Given the description of an element on the screen output the (x, y) to click on. 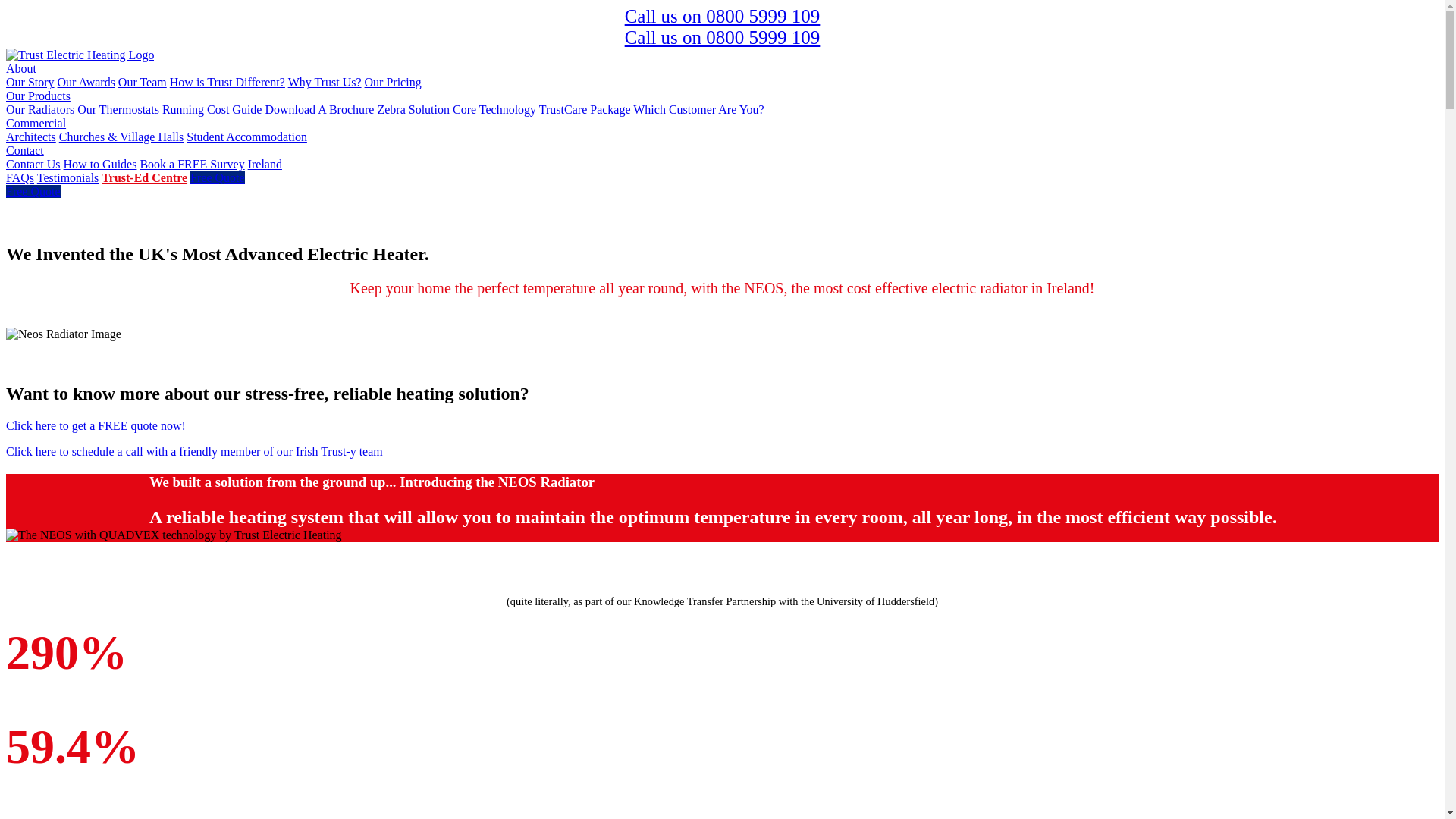
Book a FREE Survey (191, 164)
Student Accommodation (246, 136)
Why Trust Us? (324, 82)
Testimonials (68, 177)
Free Quote (33, 191)
Our Story (30, 82)
Core Technology (493, 109)
Call us on 0800 5999 109 (722, 15)
Call Now (722, 15)
Download A Brochure (319, 109)
Our Awards (142, 82)
FAQs (19, 177)
About (20, 68)
How to Guides (100, 164)
